Given the description of an element on the screen output the (x, y) to click on. 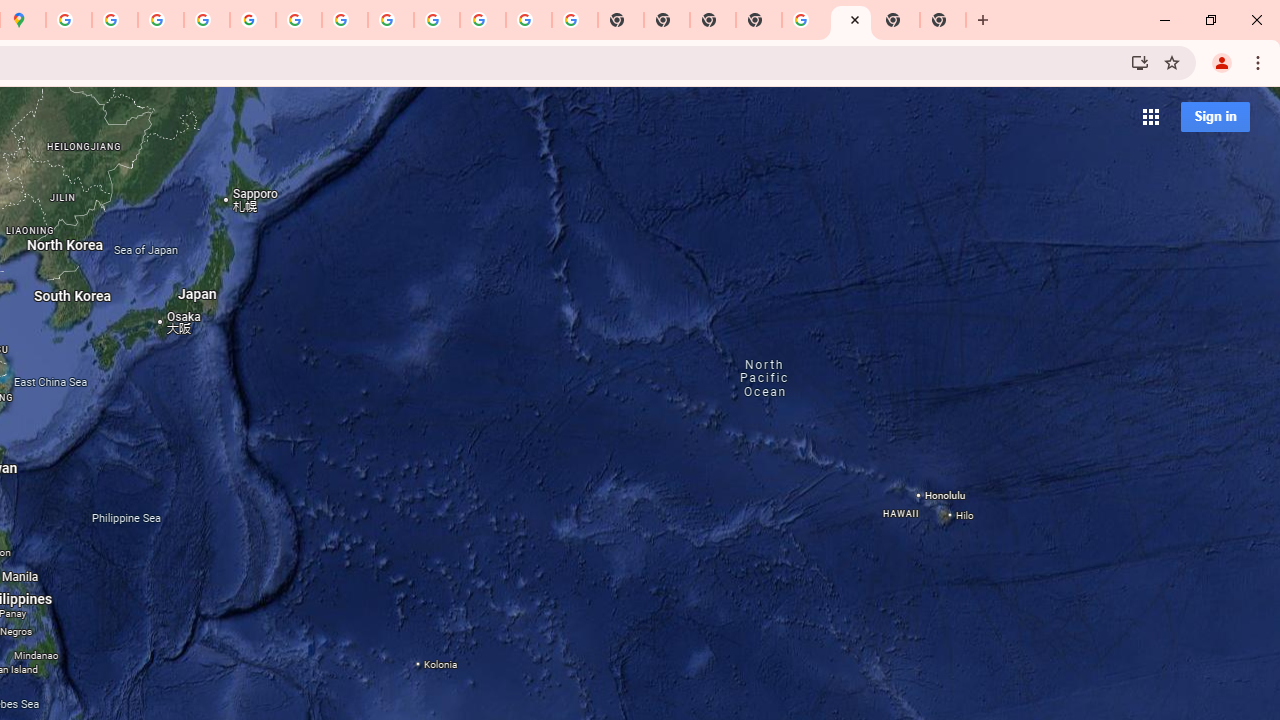
Privacy Help Center - Policies Help (161, 20)
Privacy Help Center - Policies Help (115, 20)
Policy Accountability and Transparency - Transparency Center (69, 20)
New Tab (943, 20)
